Given the description of an element on the screen output the (x, y) to click on. 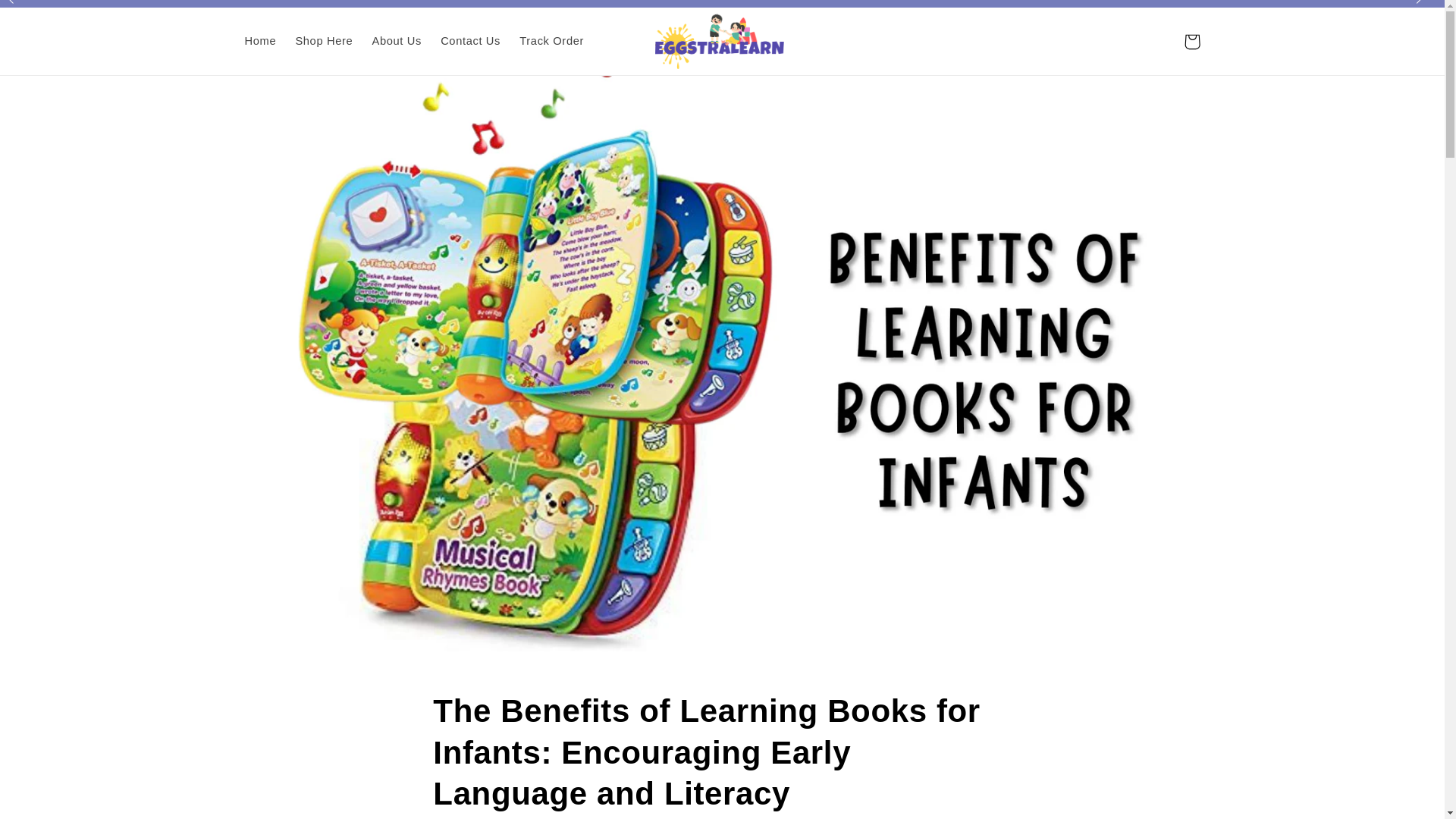
Shop Here (323, 41)
Track Order (552, 41)
Contact Us (470, 41)
About Us (396, 41)
Carrito (1191, 41)
Ir directamente al contenido (48, 18)
Home (259, 41)
